Given the description of an element on the screen output the (x, y) to click on. 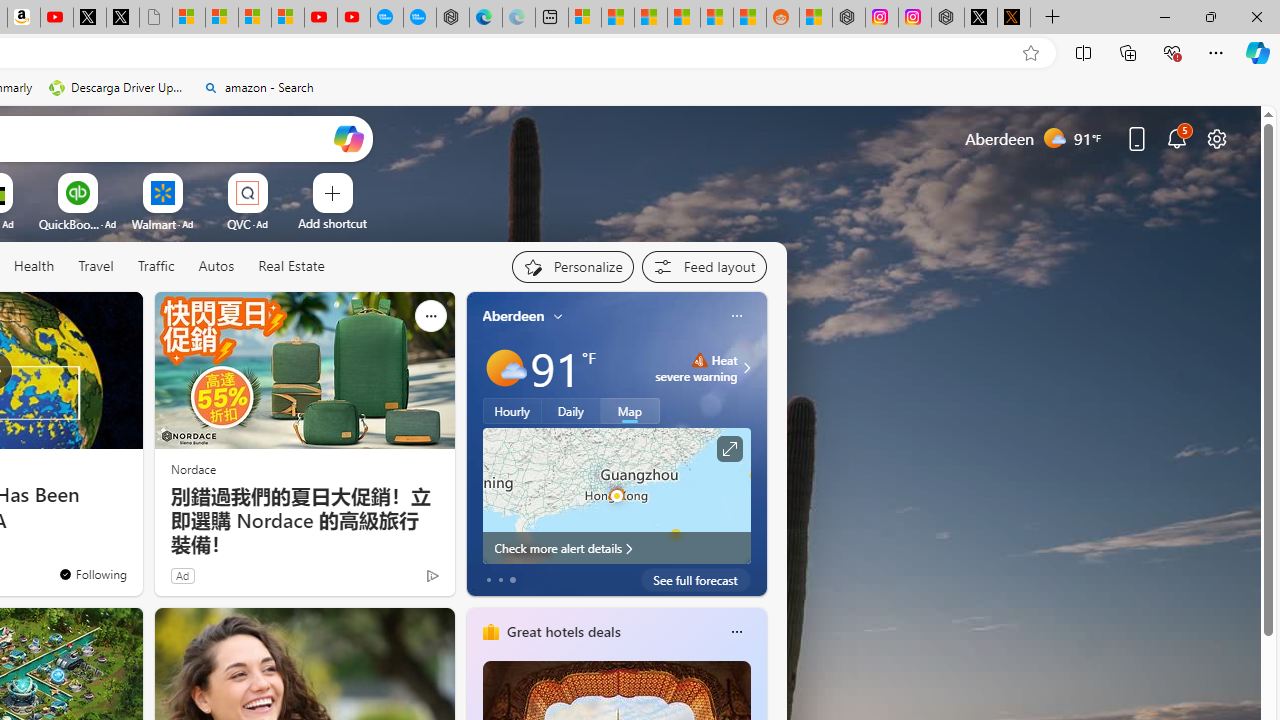
YouTube Kids - An App Created for Kids to Explore Content (353, 17)
Click to see more information (728, 449)
The most popular Google 'how to' searches (420, 17)
Nordace (@NordaceOfficial) / X (981, 17)
Travel (95, 265)
Gloom - YouTube (320, 17)
